Given the description of an element on the screen output the (x, y) to click on. 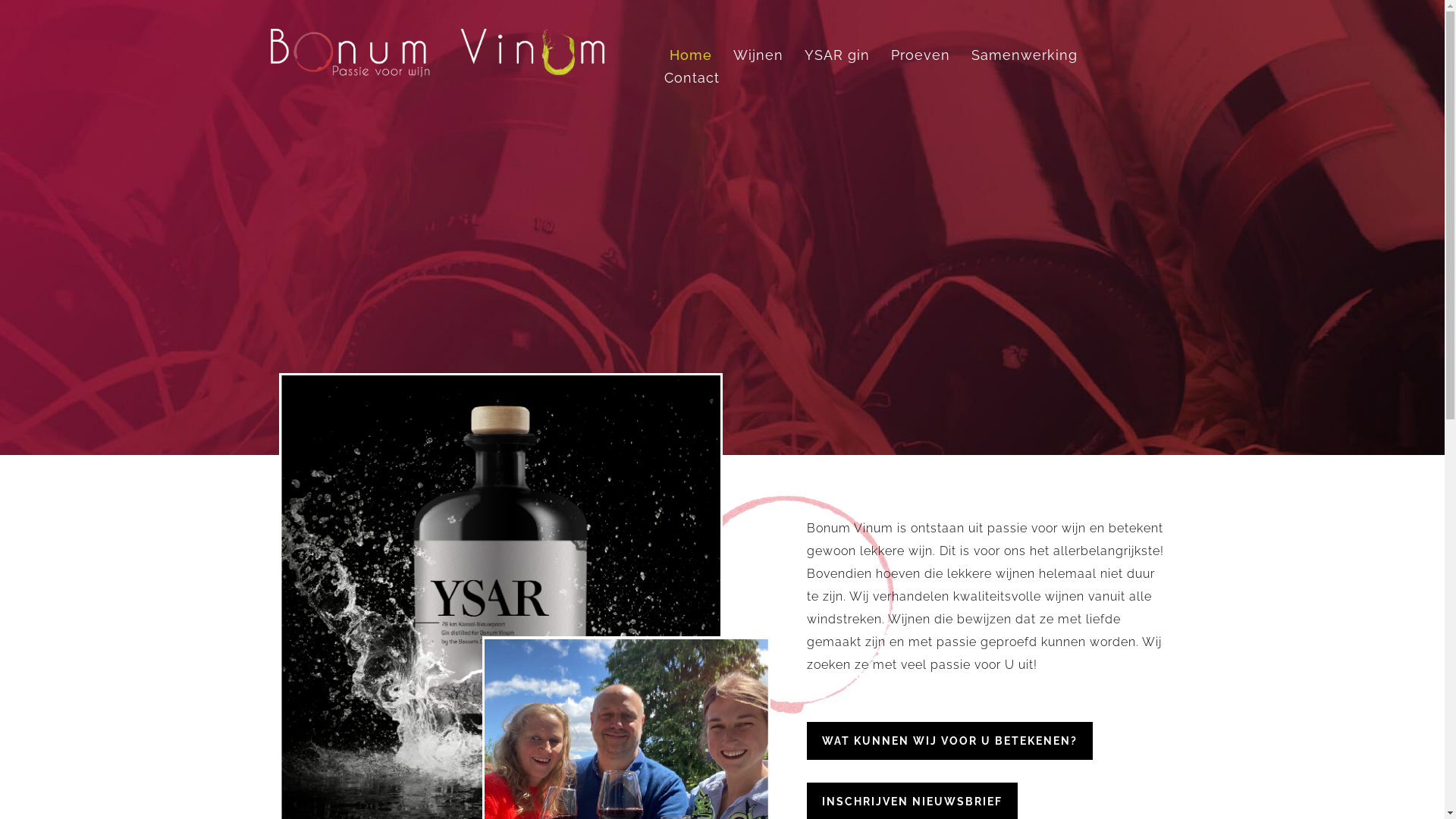
Home Element type: text (689, 54)
Proeven Element type: text (919, 54)
Contact Element type: text (691, 77)
WAT KUNNEN WIJ VOOR U BETEKENEN? Element type: text (949, 740)
Samenwerking Element type: text (1023, 54)
YSAR gin Element type: text (836, 54)
Wijnen Element type: text (757, 54)
